Given the description of an element on the screen output the (x, y) to click on. 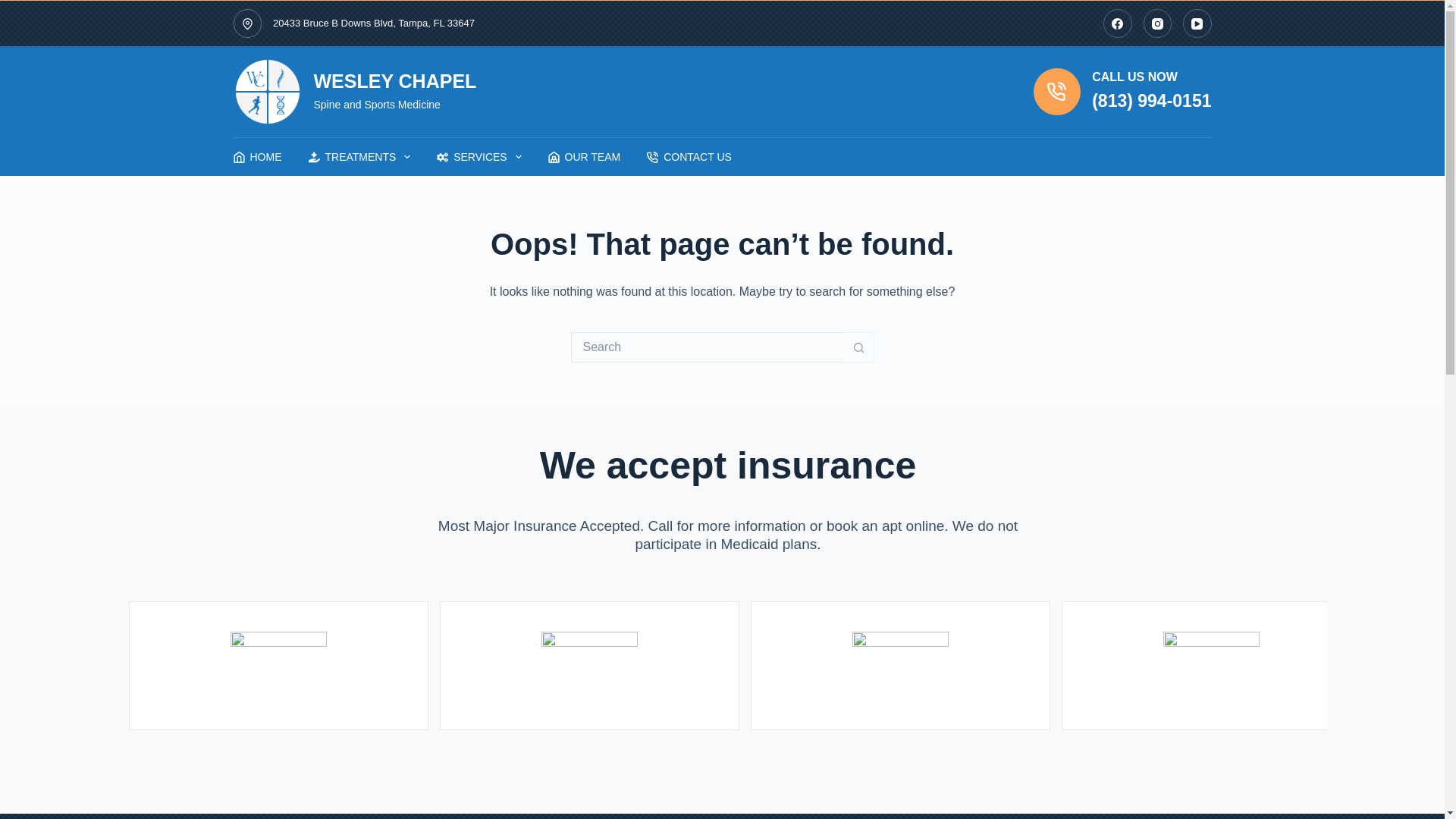
HOME (263, 157)
WESLEY CHAPEL (395, 80)
Search for... (706, 347)
20433 Bruce B Downs Blvd, Tampa, FL 33647 (373, 22)
TREATMENTS (359, 157)
Skip to content (15, 7)
